Given the description of an element on the screen output the (x, y) to click on. 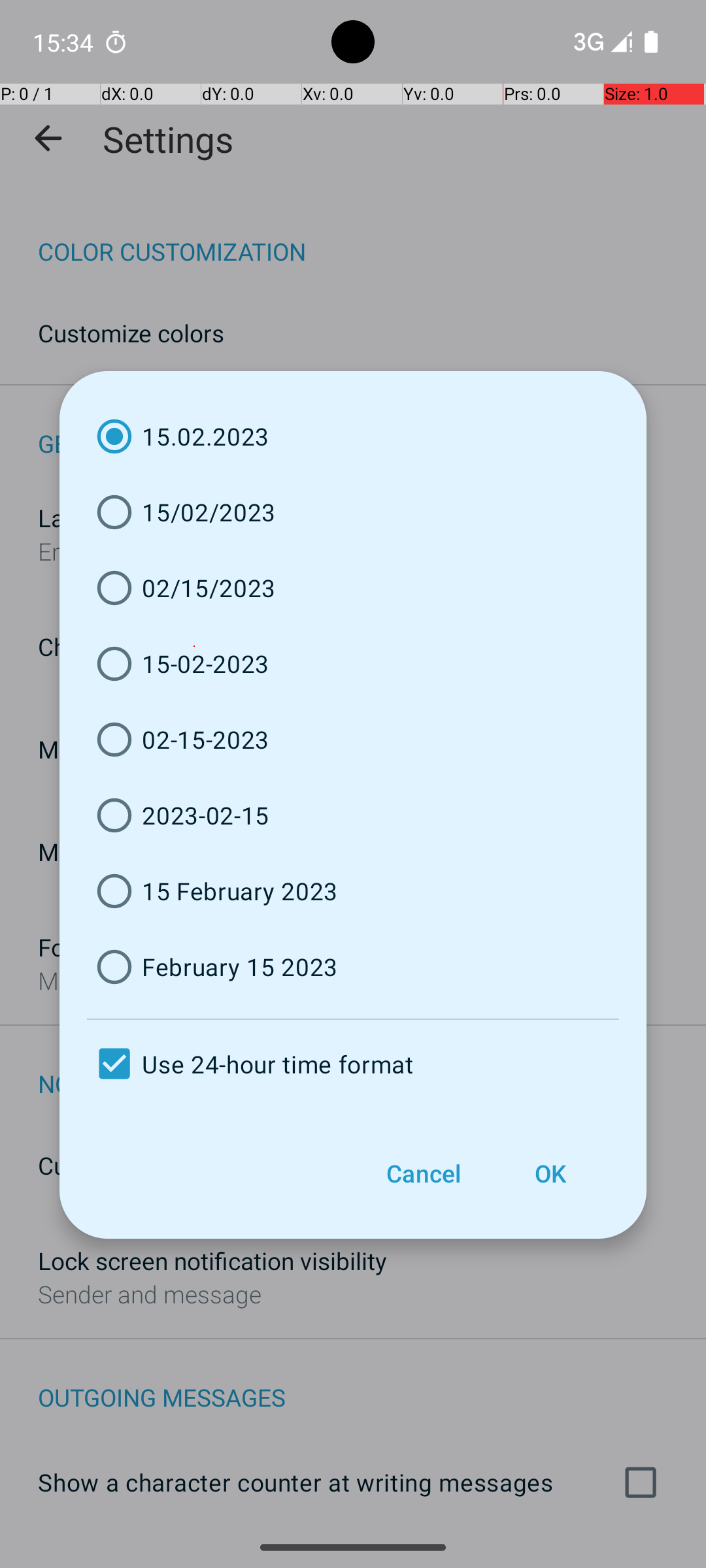
15.02.2023 Element type: android.widget.RadioButton (352, 436)
15/02/2023 Element type: android.widget.RadioButton (352, 512)
02/15/2023 Element type: android.widget.RadioButton (352, 587)
15-02-2023 Element type: android.widget.RadioButton (352, 663)
02-15-2023 Element type: android.widget.RadioButton (352, 739)
2023-02-15 Element type: android.widget.RadioButton (352, 815)
15 February 2023 Element type: android.widget.RadioButton (352, 891)
February 15 2023 Element type: android.widget.RadioButton (352, 966)
